Given the description of an element on the screen output the (x, y) to click on. 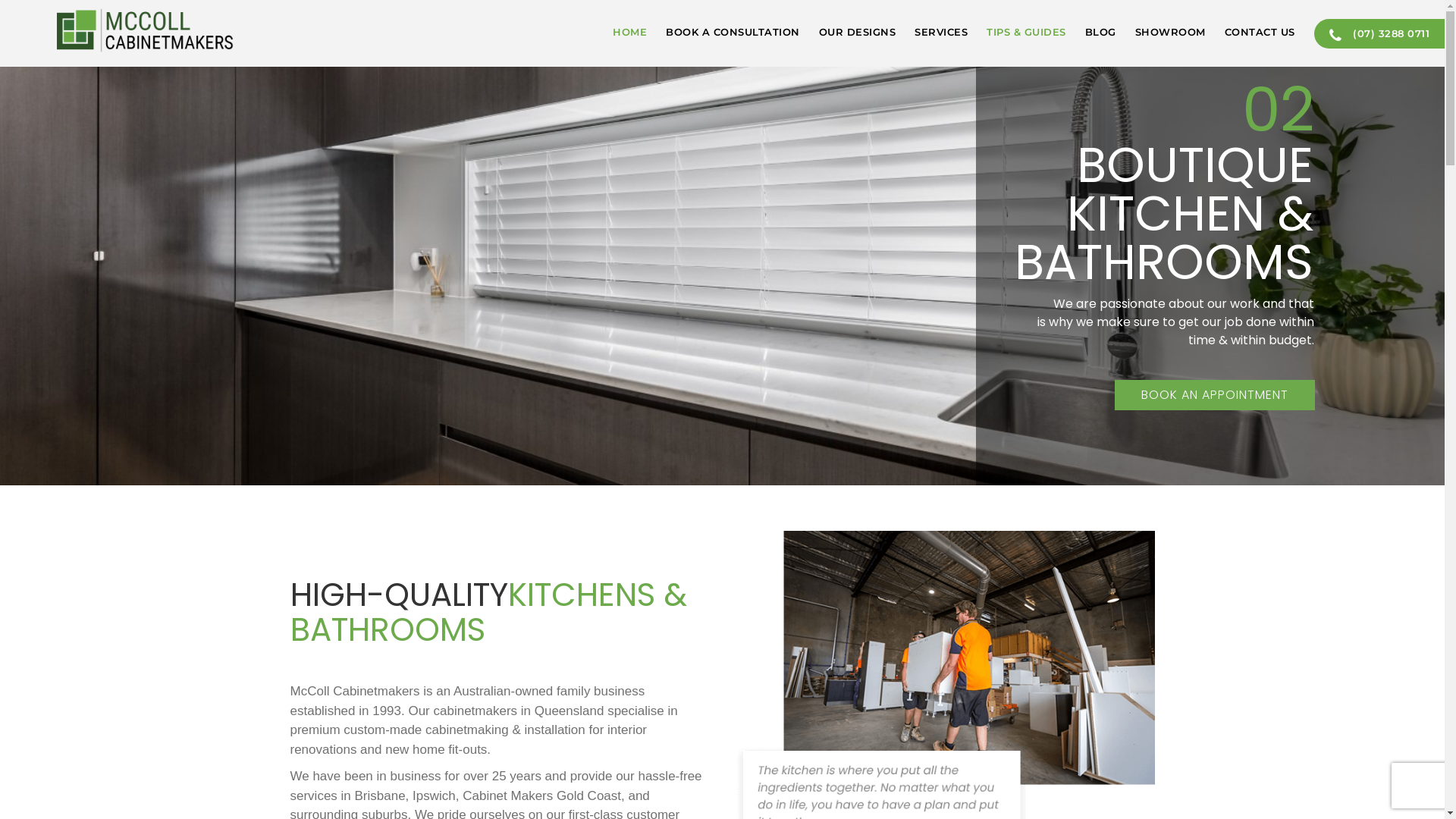
SHOWROOM Element type: text (1160, 30)
SERVICES Element type: text (931, 30)
BLOG Element type: text (1091, 30)
HOME Element type: text (619, 30)
CONTACT US Element type: text (1250, 30)
BOOK A CONSULTATION Element type: text (723, 30)
(07) 3288 0711 Element type: text (1378, 33)
OUR DESIGNS Element type: text (847, 30)
TIPS & GUIDES Element type: text (1016, 30)
